Given the description of an element on the screen output the (x, y) to click on. 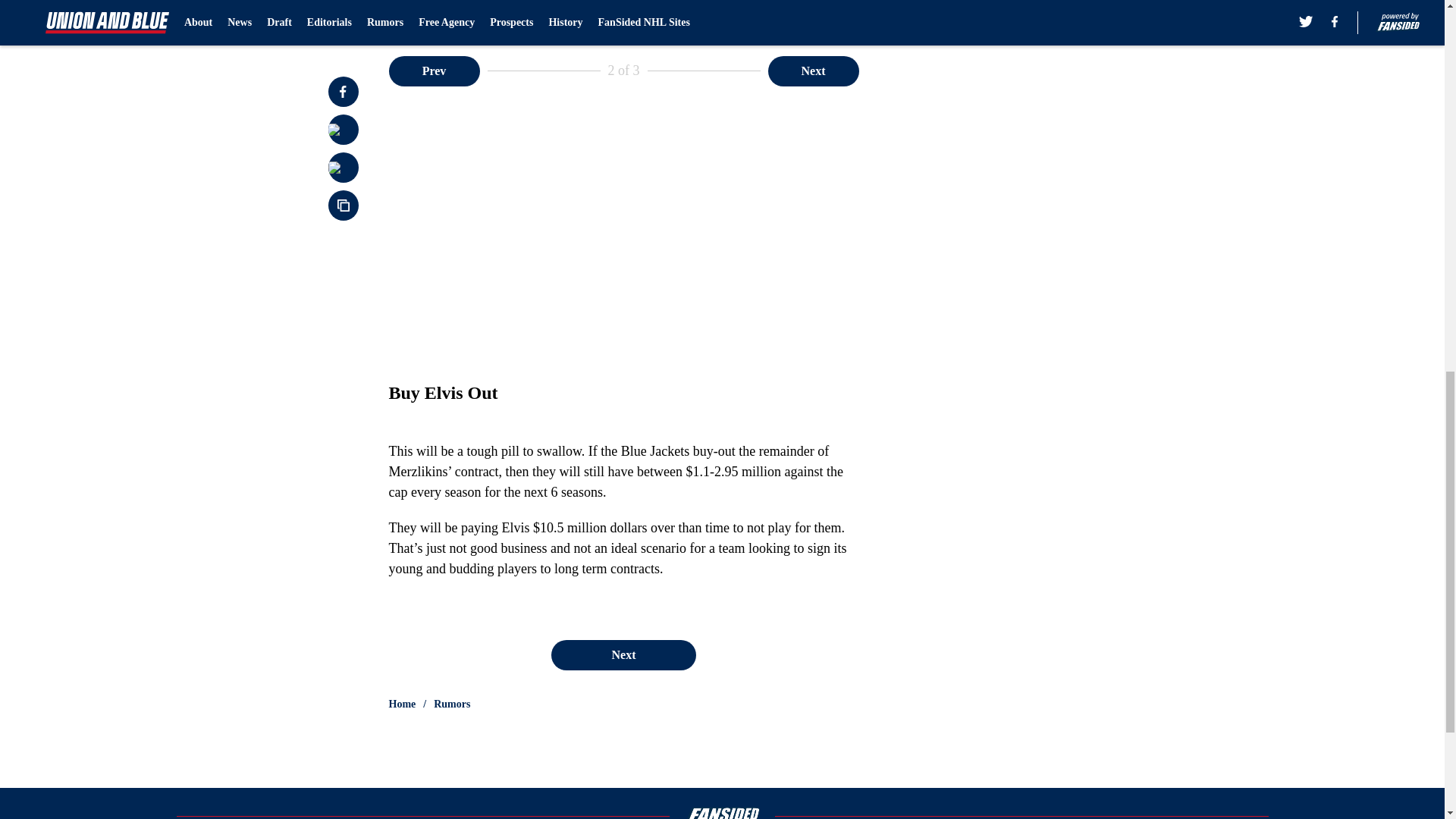
Next (813, 71)
Next (622, 654)
Prev (433, 71)
Rumors (451, 703)
Home (401, 703)
